Given the description of an element on the screen output the (x, y) to click on. 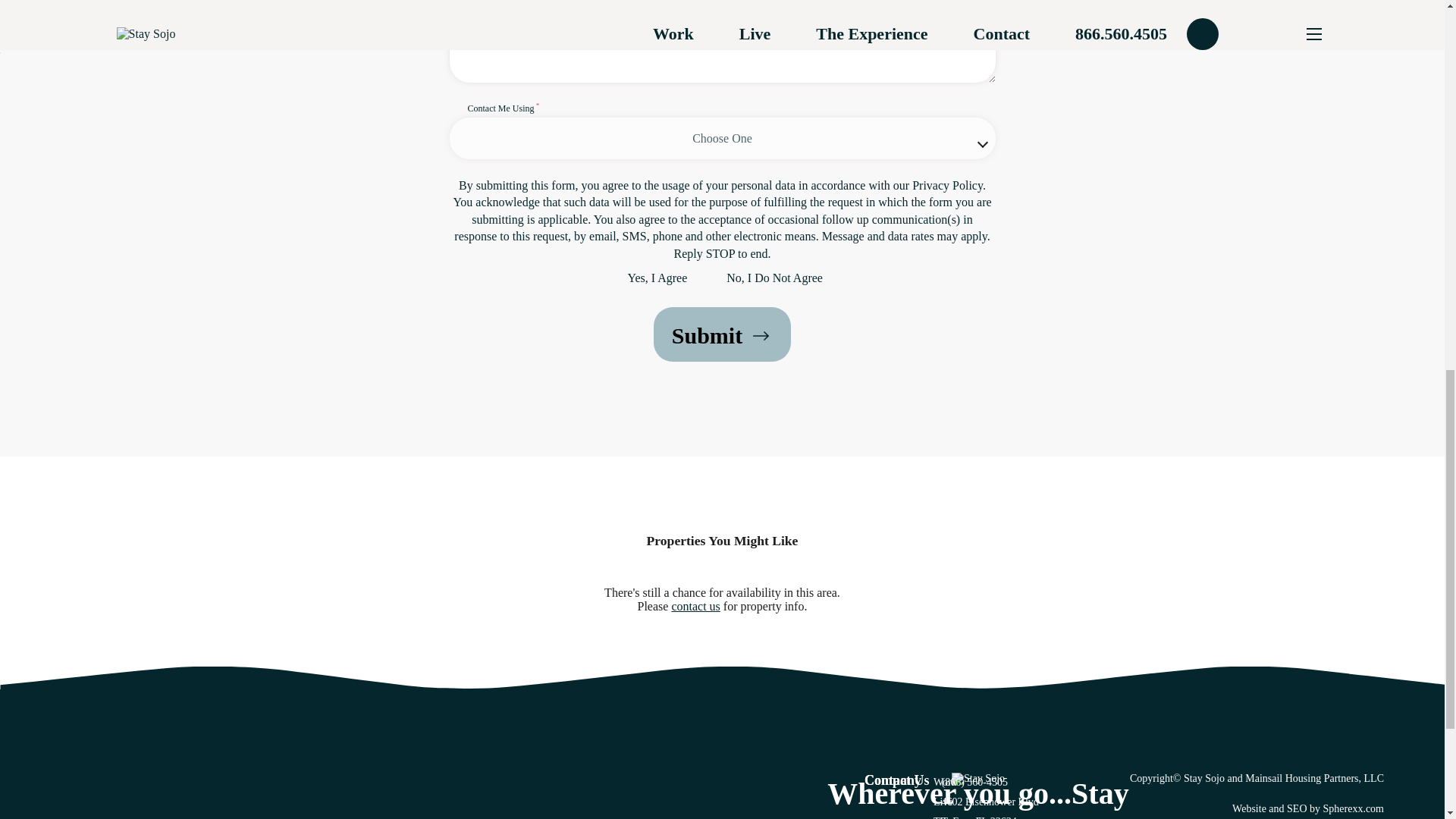
unchecked (713, 280)
Privacy Policy (947, 185)
Visit us on YouTube (932, 784)
Contact me using (721, 129)
unchecked (615, 280)
Message (721, 41)
